Given the description of an element on the screen output the (x, y) to click on. 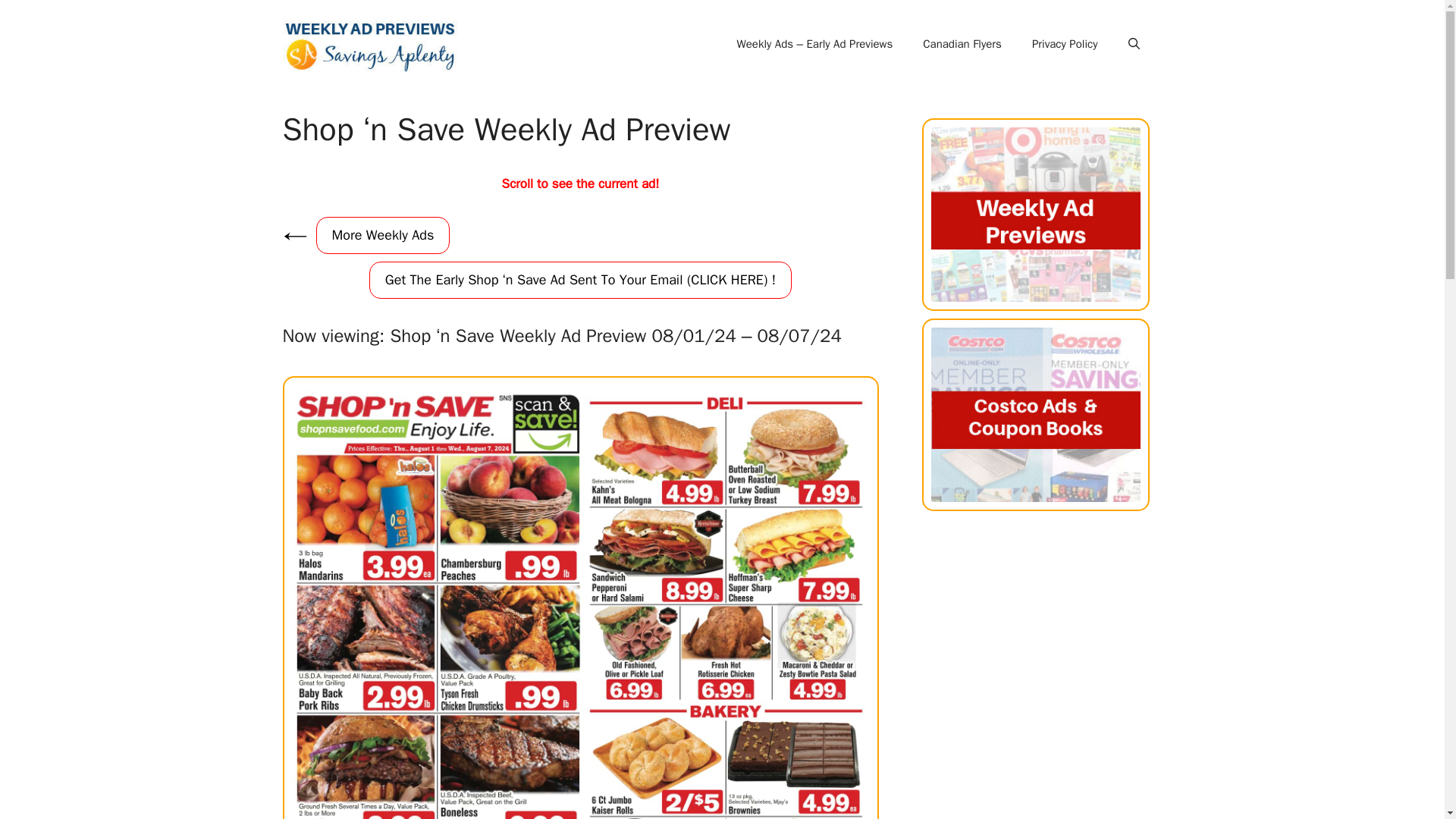
Canadian Flyers (961, 43)
More Weekly Ads (382, 235)
More Weekly Ads (382, 235)
Privacy Policy (1064, 43)
